Given the description of an element on the screen output the (x, y) to click on. 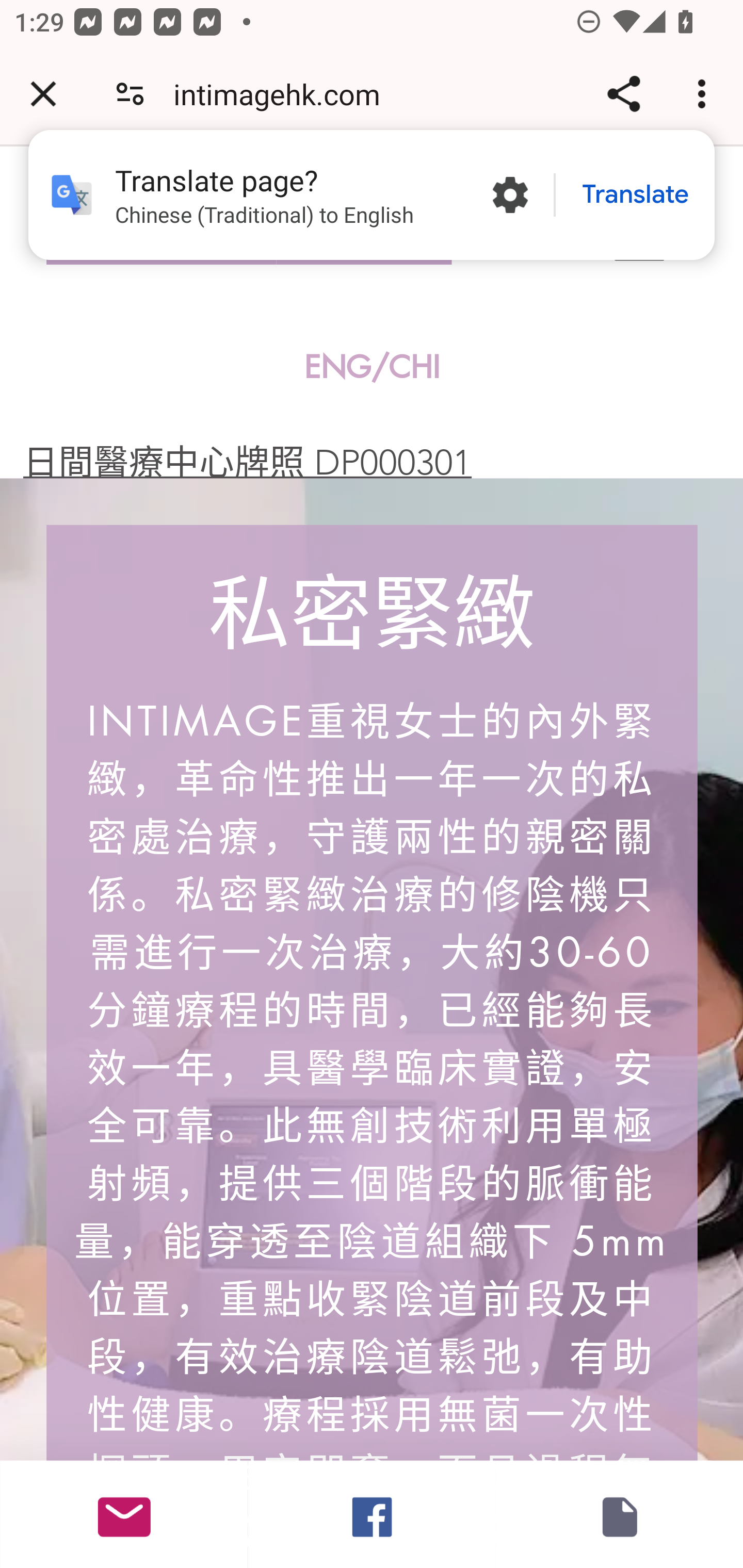
Close tab (43, 93)
Share (623, 93)
Customize and control Google Chrome (705, 93)
Connection is secure (129, 93)
intimagehk.com (283, 93)
More options in the Translate page? (509, 195)
Open navigation menu (638, 237)
ENG/CHI (372, 367)
日間醫療中心牌照 DP000301 (247, 462)
Email (124, 1513)
Facebook (371, 1513)
Book Consultation (618, 1513)
